Given the description of an element on the screen output the (x, y) to click on. 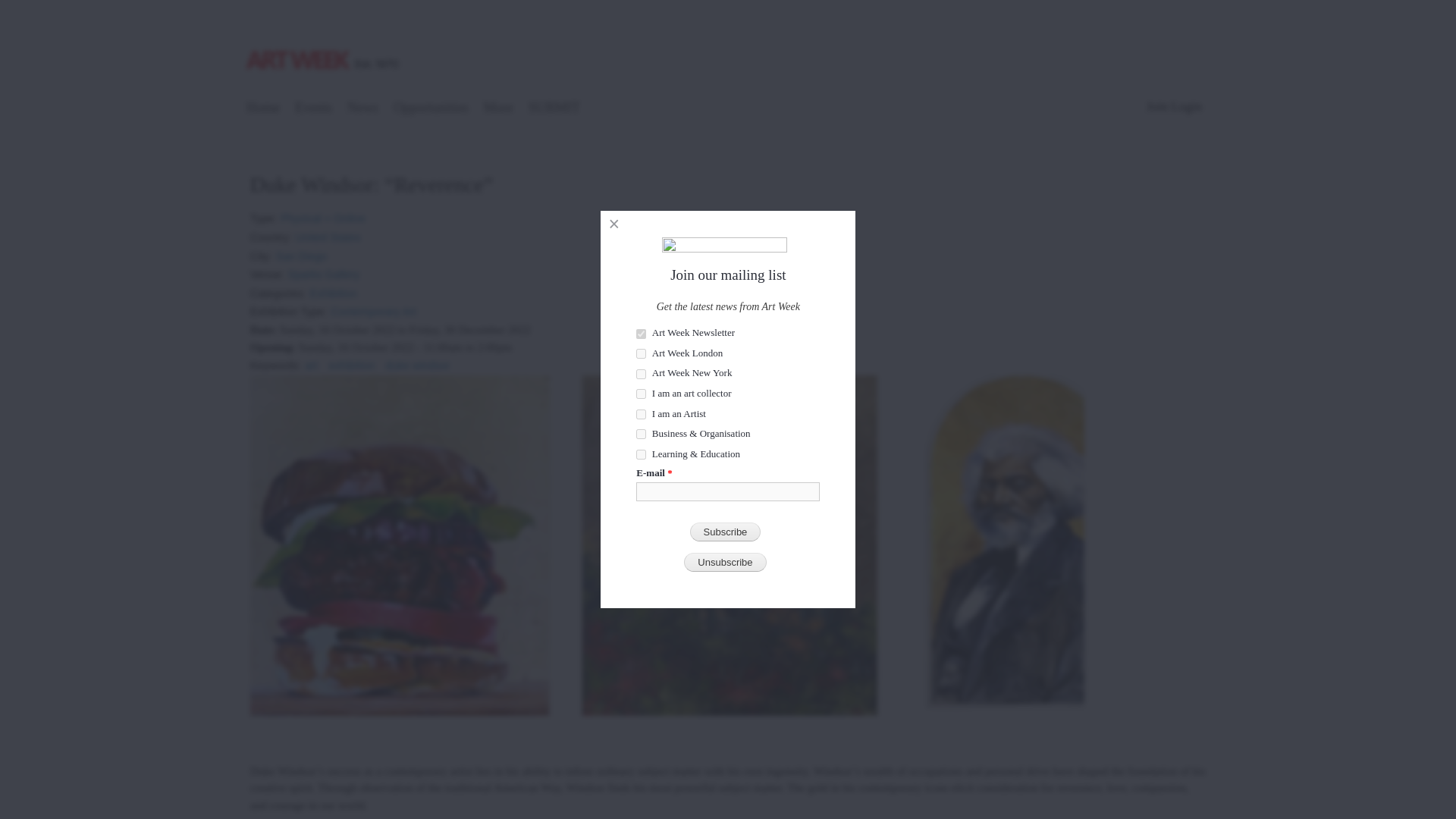
News (362, 109)
Contemporary Art (373, 306)
duke windsor (417, 360)
6189 (641, 433)
San Diego (301, 251)
exhibition (351, 360)
Home (325, 43)
729 (641, 334)
Sparks Gallery (323, 269)
Art news (362, 109)
Opportunities (430, 109)
30824 (641, 374)
17672 (641, 393)
Join (1157, 106)
Subscribe (725, 531)
